Given the description of an element on the screen output the (x, y) to click on. 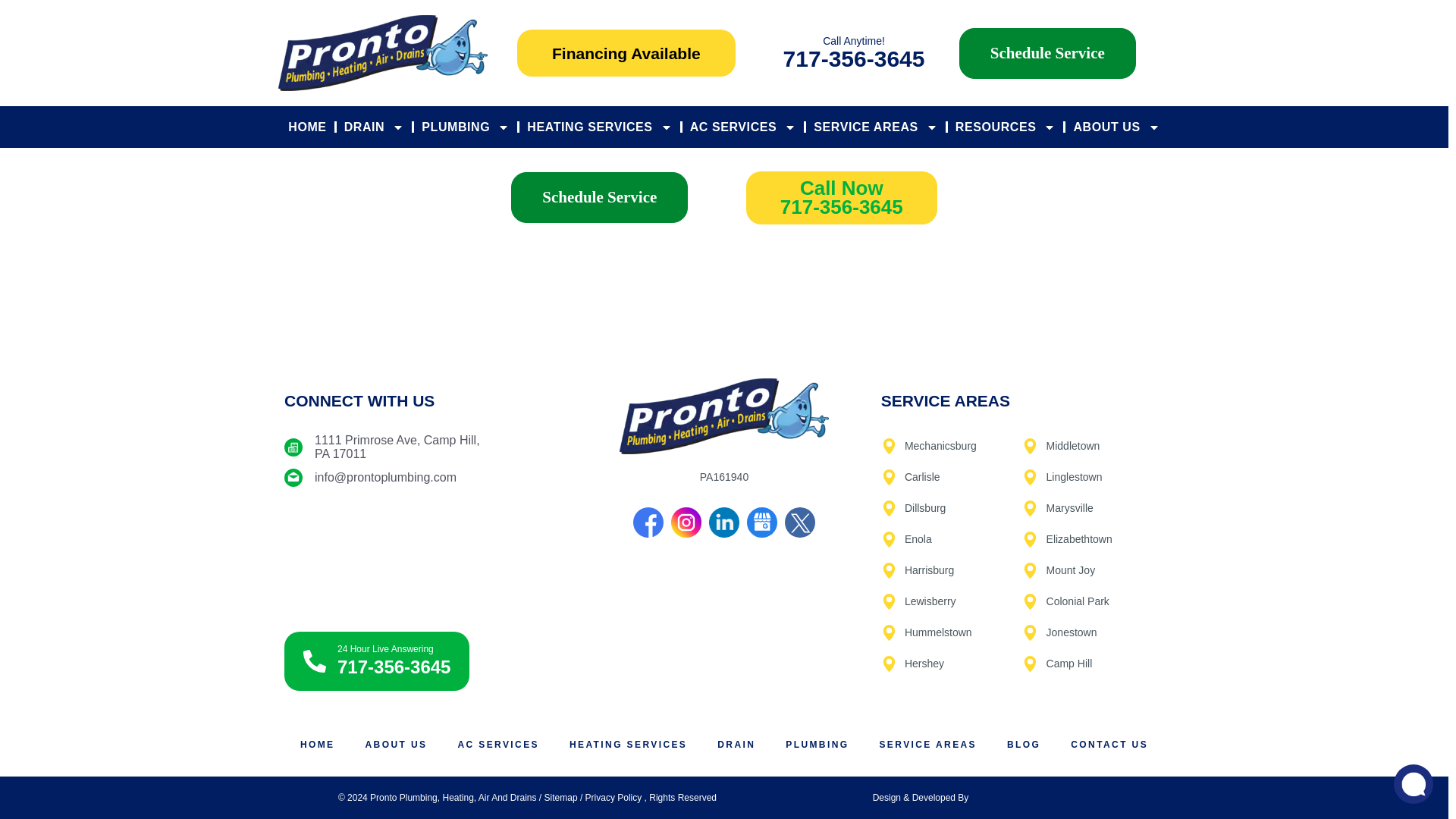
Pronto Plumbing (425, 554)
